Given the description of an element on the screen output the (x, y) to click on. 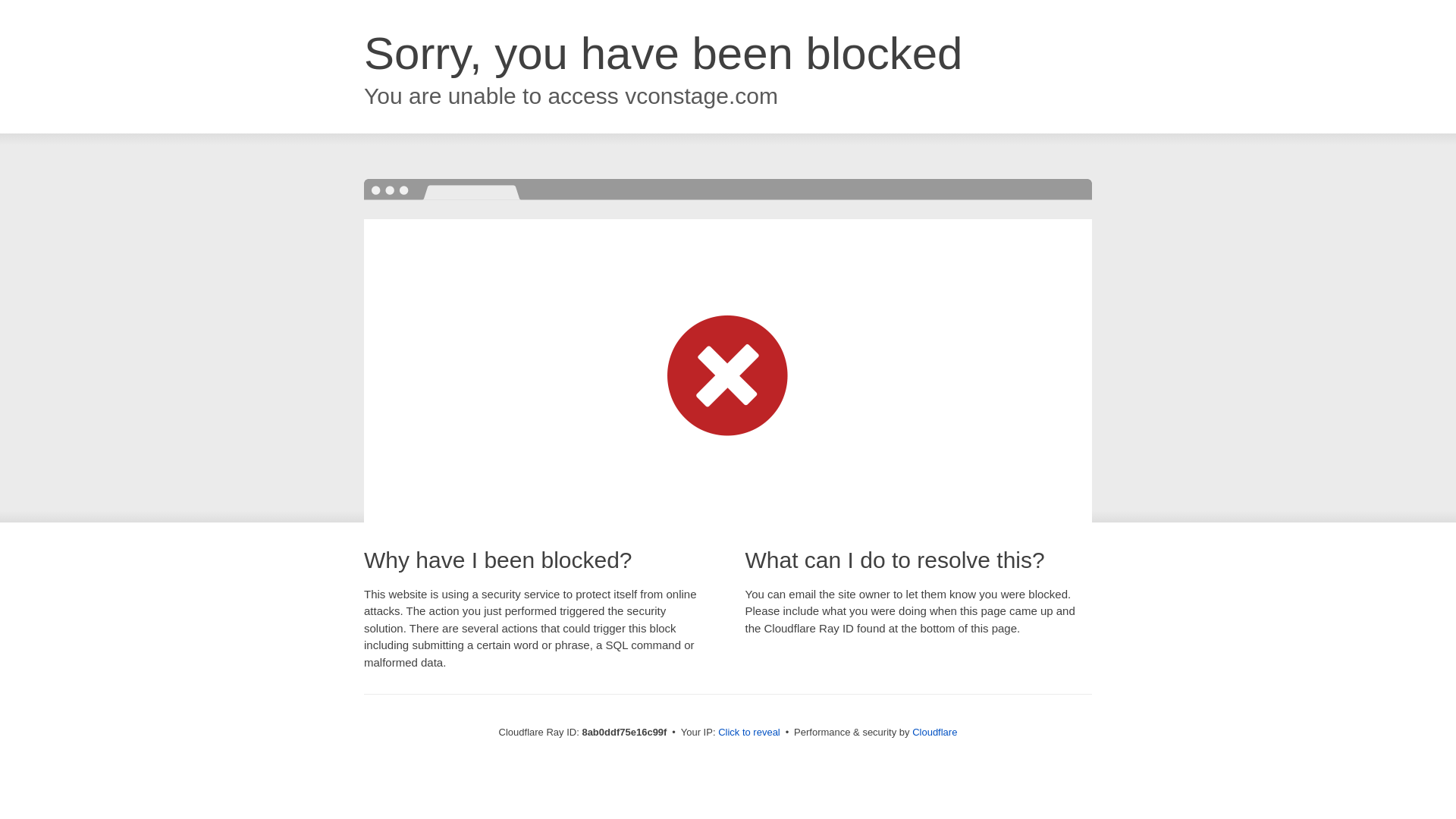
Cloudflare (934, 731)
Click to reveal (748, 732)
